Given the description of an element on the screen output the (x, y) to click on. 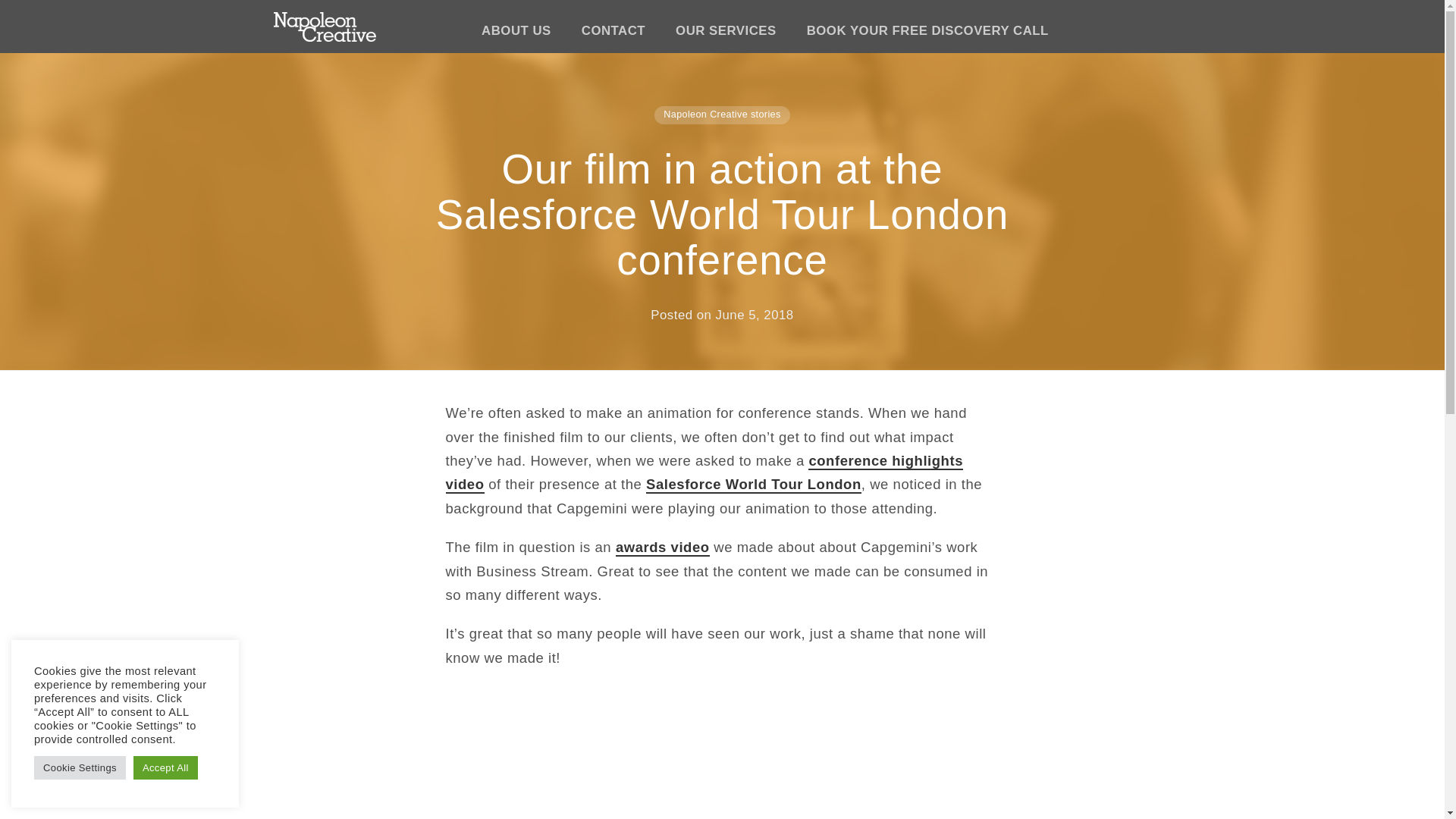
Saleforce Animation at the London show (635, 771)
awards video (662, 547)
BOOK YOUR FREE DISCOVERY CALL (928, 20)
Napoleon Creative stories (721, 113)
CONTACT (613, 20)
Salesforce World Tour London (753, 484)
conference highlights video (704, 472)
ABOUT US (515, 20)
OUR SERVICES (726, 20)
